Given the description of an element on the screen output the (x, y) to click on. 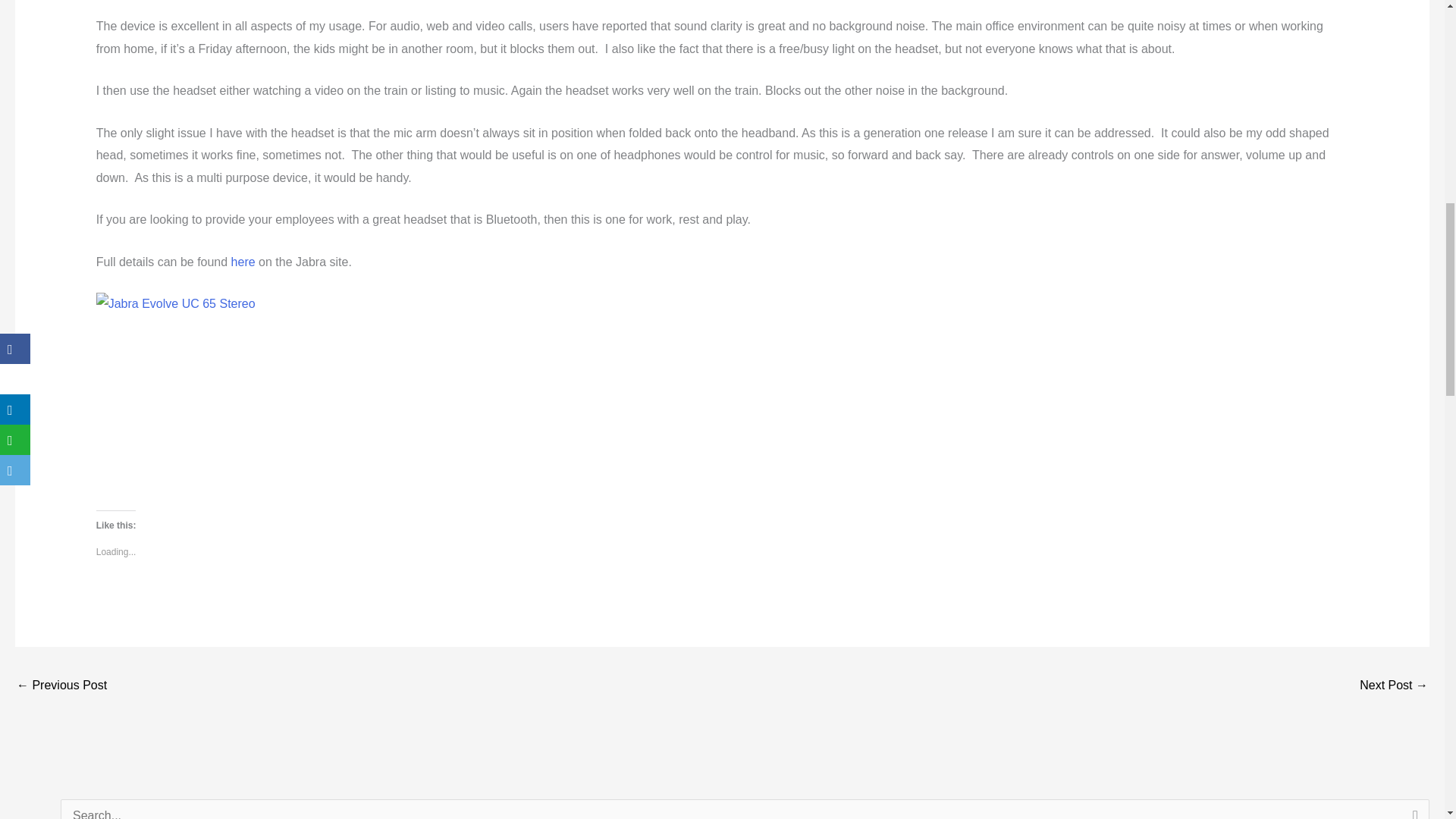
Search (1411, 809)
Search (1411, 809)
Fixing Mail app in Windows 10 Build 10041 (1393, 686)
here (245, 260)
Surface Pro 3 and Windows 10 Technical Preview (61, 686)
Search (1411, 809)
